Given the description of an element on the screen output the (x, y) to click on. 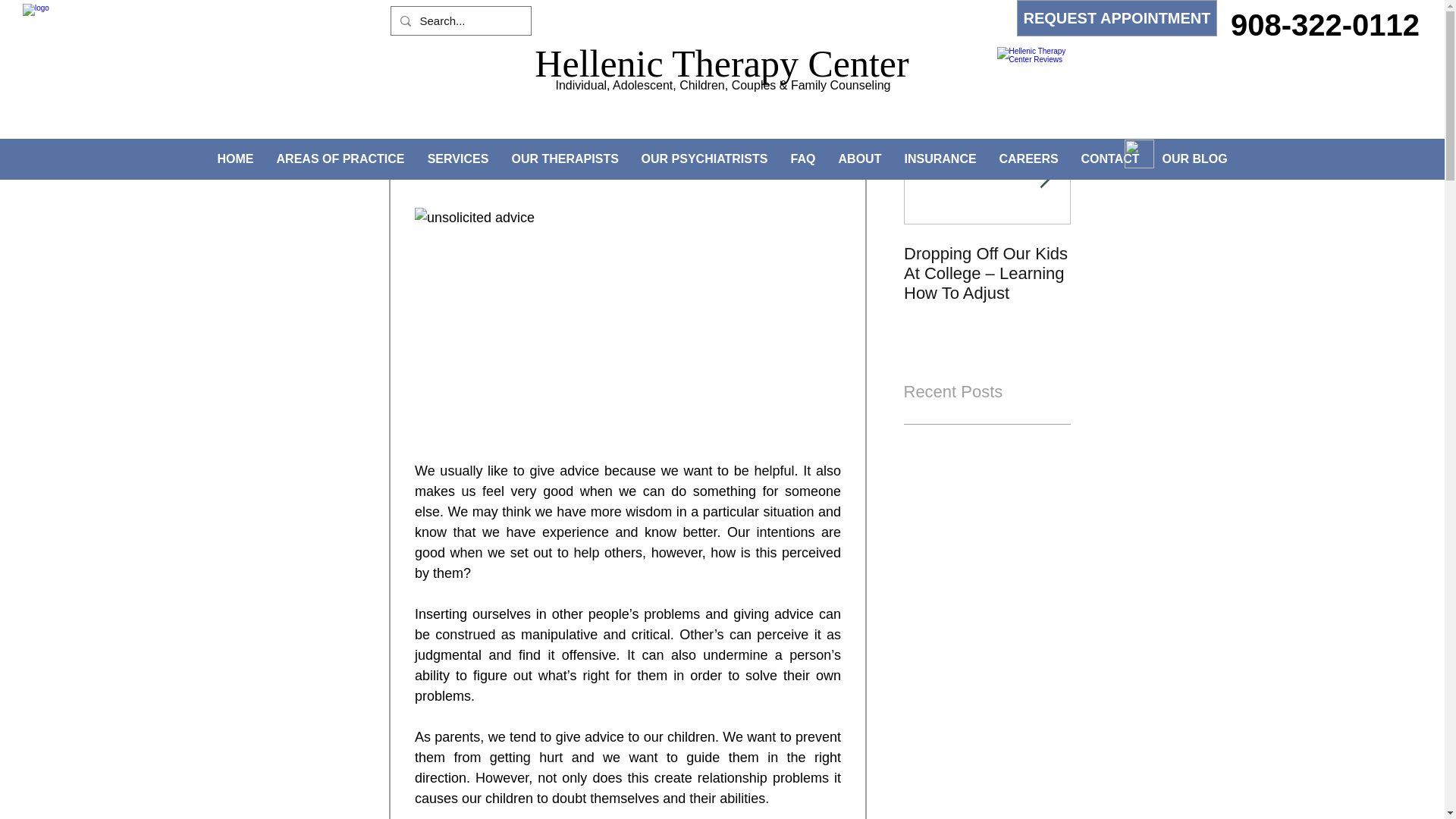
ABOUT (859, 158)
REQUEST APPOINTMENT (1116, 18)
908-322-0112 (1325, 24)
FAQ (802, 158)
INSURANCE (940, 158)
Hellenic Therapy Center (721, 63)
HOME (235, 158)
SERVICES (456, 158)
AREAS OF PRACTICE (340, 158)
